Given the description of an element on the screen output the (x, y) to click on. 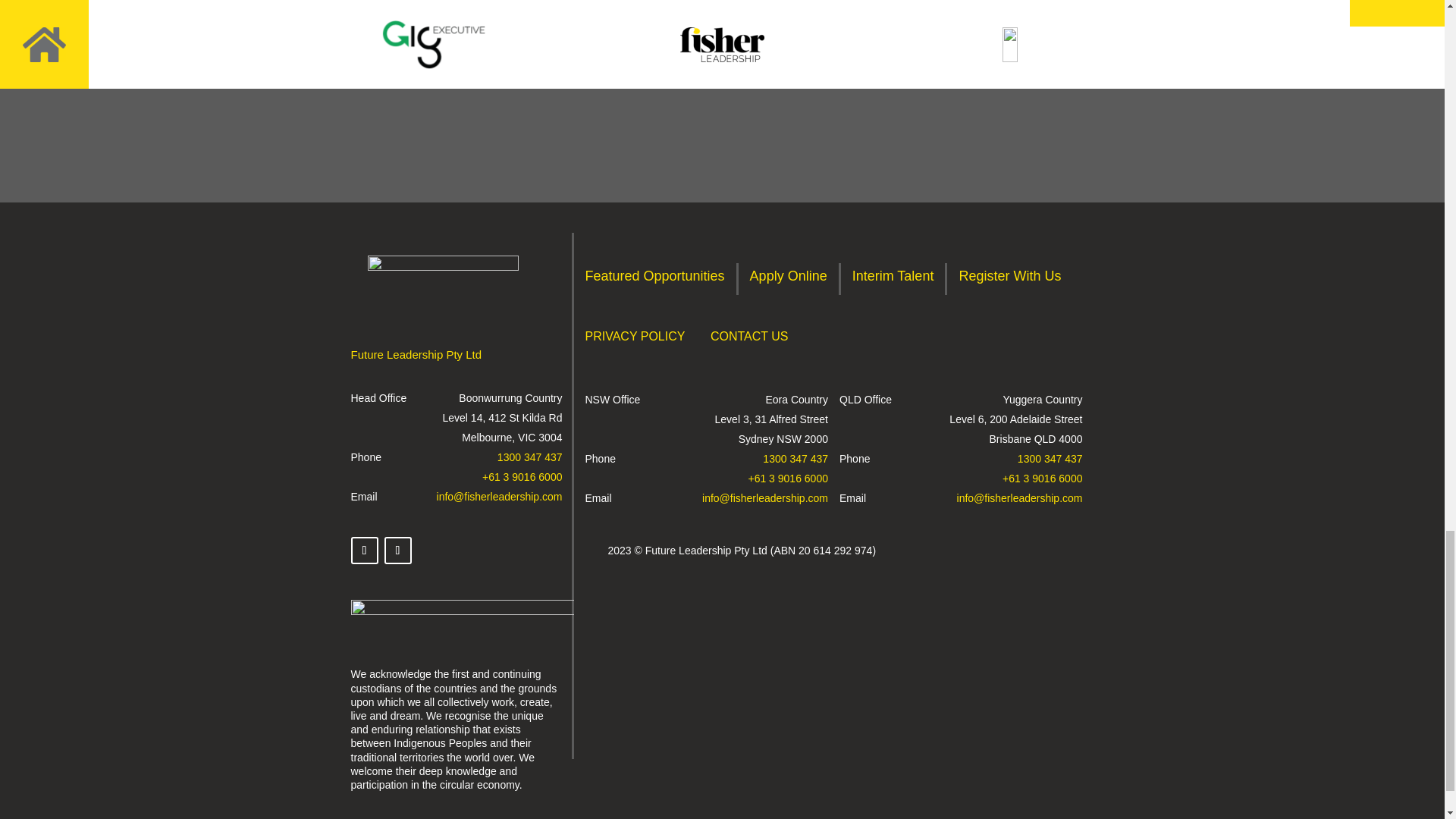
Subscribe (1052, 37)
Follow on LinkedIn (397, 550)
Untitled design-3 (461, 627)
foot-logo (443, 286)
1300 347 437 (529, 457)
Follow on X (363, 550)
Apply Online (788, 279)
Interim Talent (892, 279)
Featured Opportunities (655, 279)
